Given the description of an element on the screen output the (x, y) to click on. 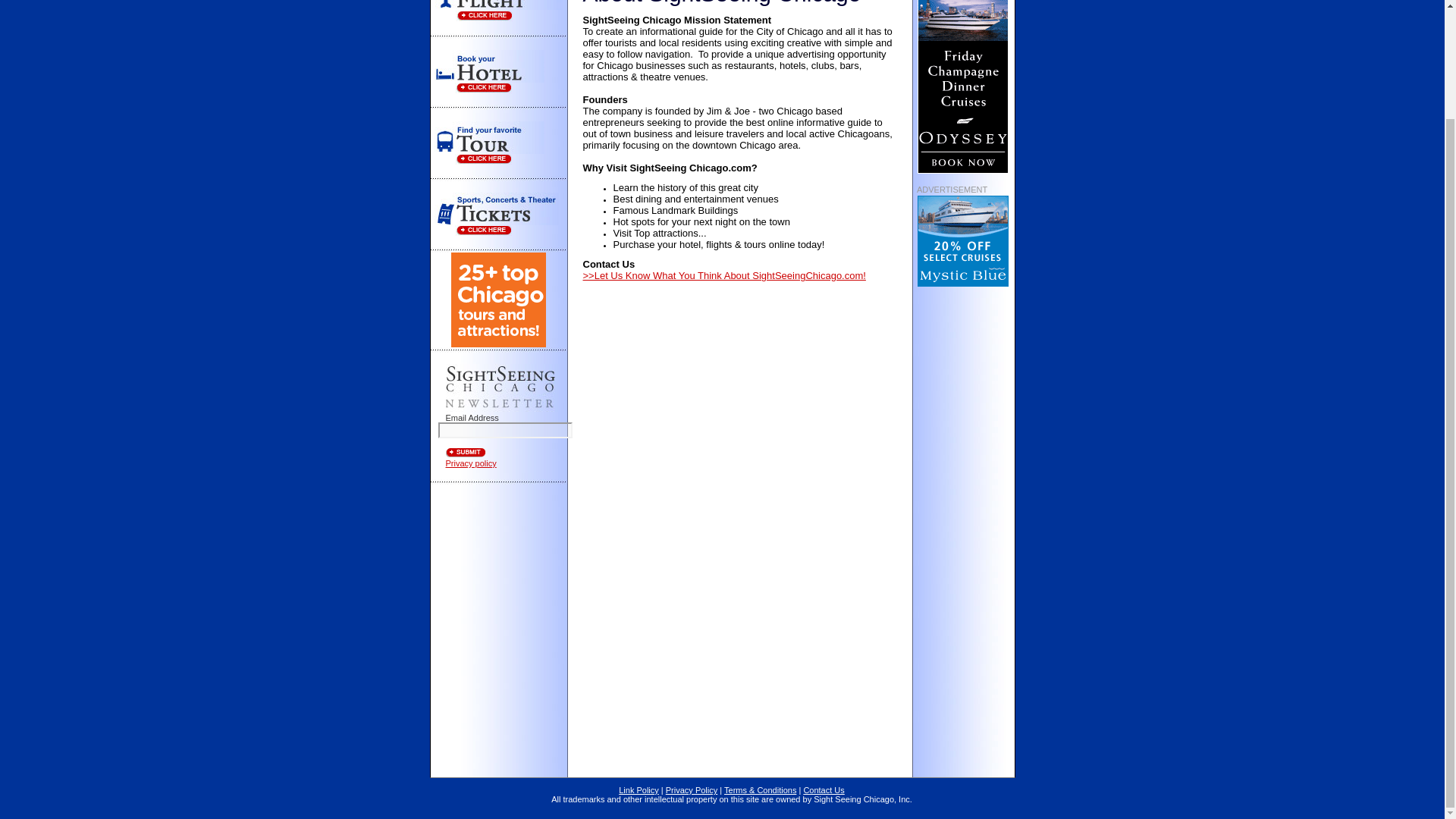
Contact Us (823, 789)
Privacy Policy (691, 789)
Privacy policy (470, 462)
Link Policy (638, 789)
